Given the description of an element on the screen output the (x, y) to click on. 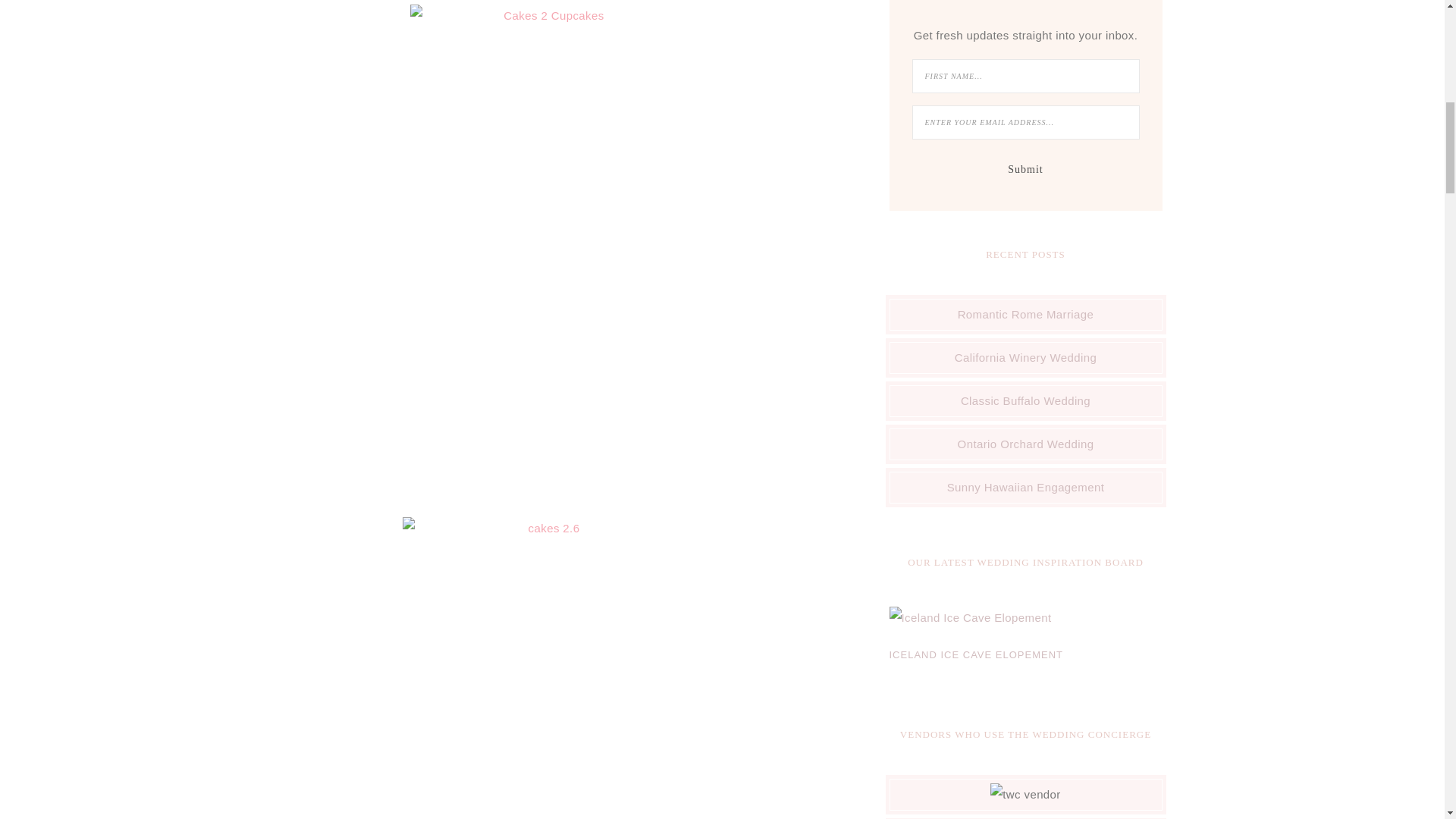
Submit (1024, 169)
